Given the description of an element on the screen output the (x, y) to click on. 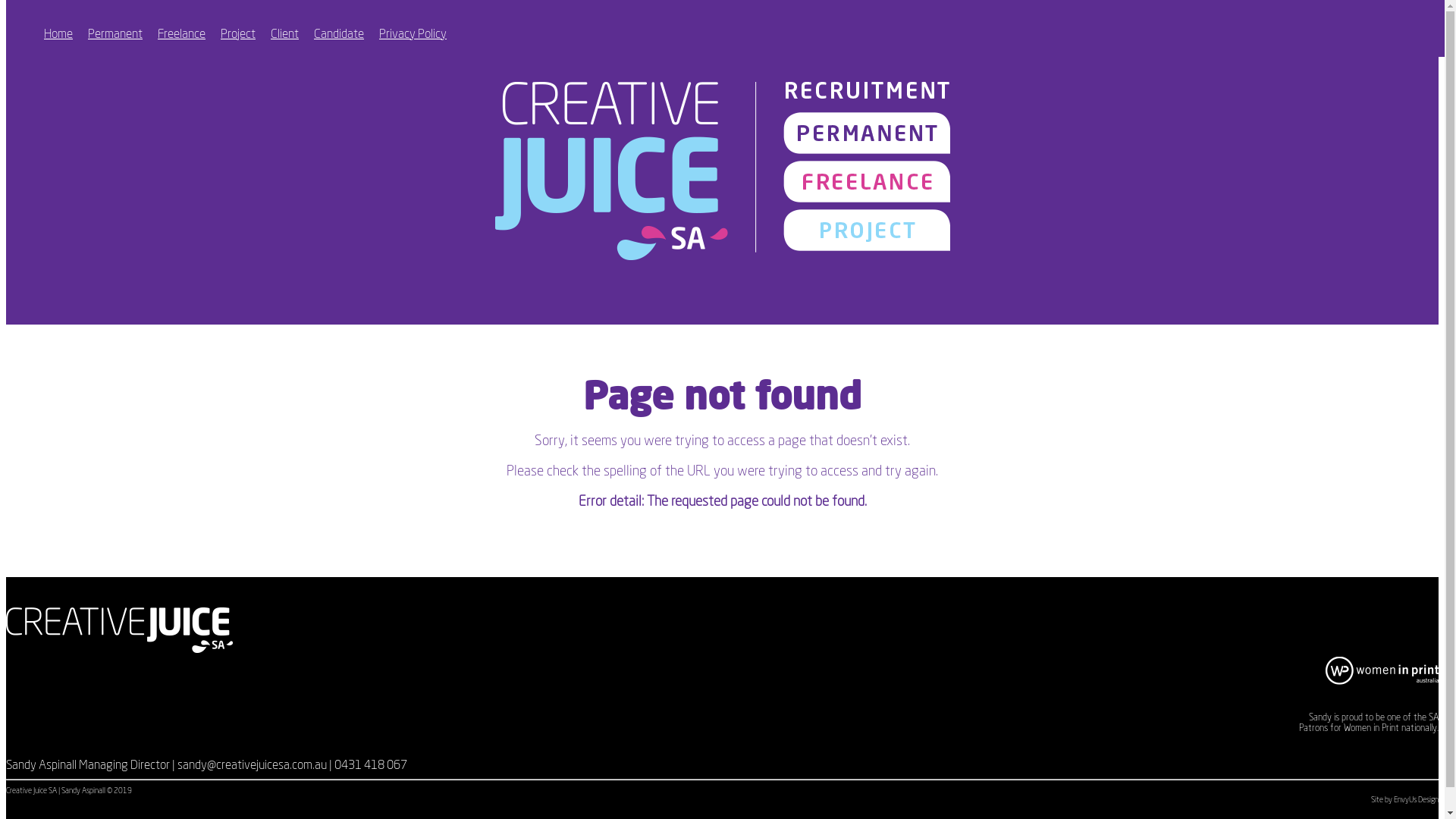
EnvyUs Design Element type: text (1415, 799)
Permanent Element type: text (114, 34)
Candidate Element type: text (338, 34)
sandy@creativejuicesa.com.au Element type: text (251, 765)
Home Element type: text (57, 34)
0431 418 067 Element type: text (370, 765)
Privacy Policy Element type: text (412, 34)
Project Element type: text (237, 34)
Client Element type: text (284, 34)
Freelance Element type: text (181, 34)
